Given the description of an element on the screen output the (x, y) to click on. 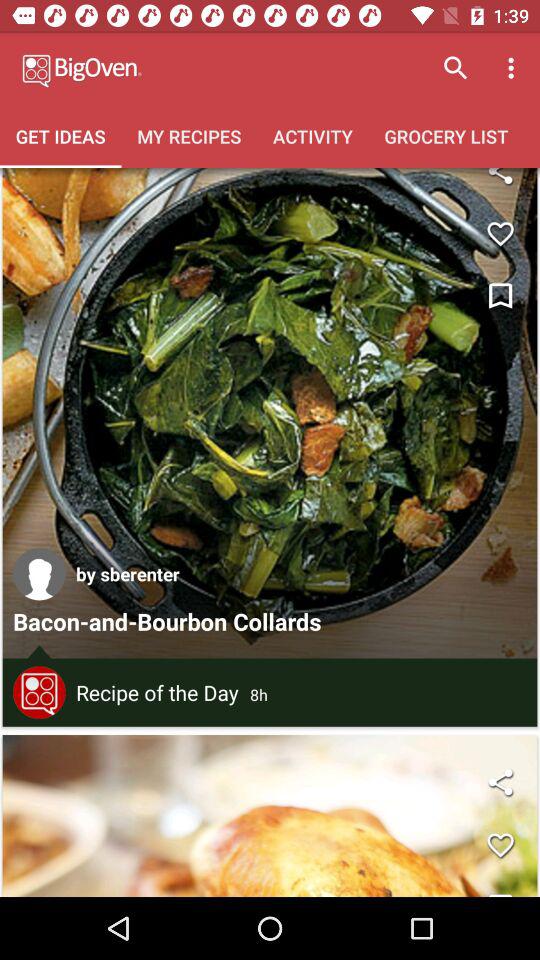
click icon to the left of by sberenter icon (39, 573)
